Given the description of an element on the screen output the (x, y) to click on. 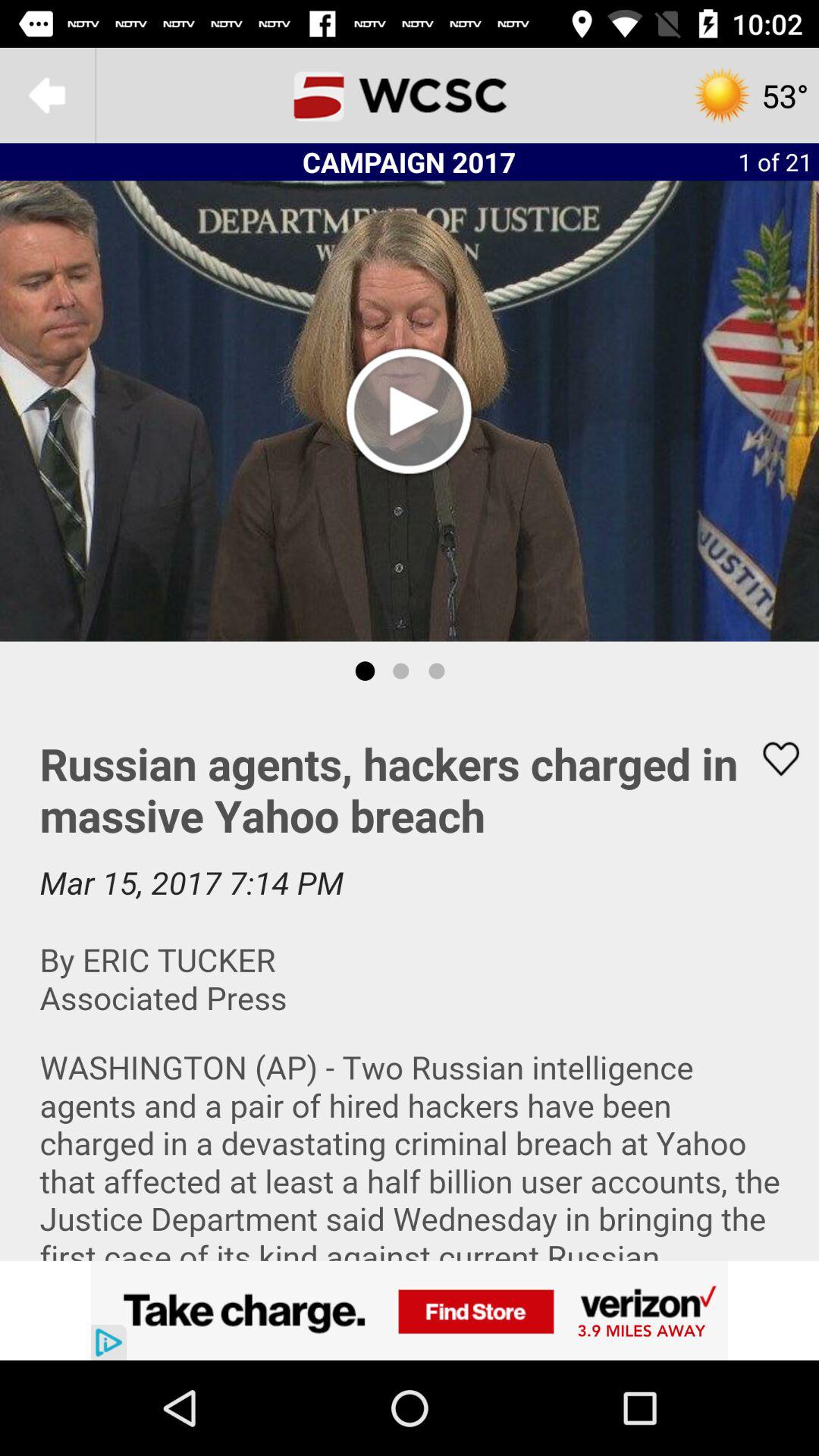
view advertisement (409, 1310)
